Given the description of an element on the screen output the (x, y) to click on. 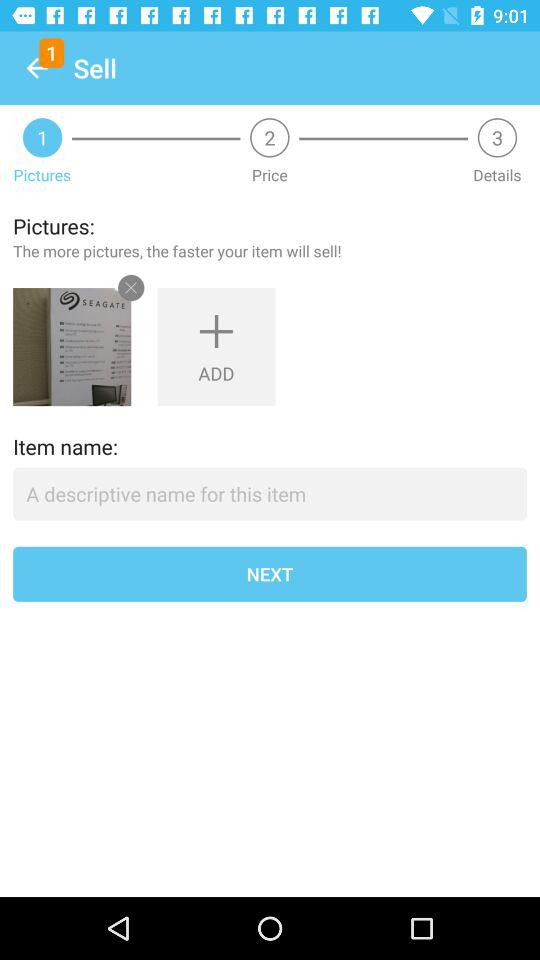
turn on the icon below the the more pictures (72, 347)
